Given the description of an element on the screen output the (x, y) to click on. 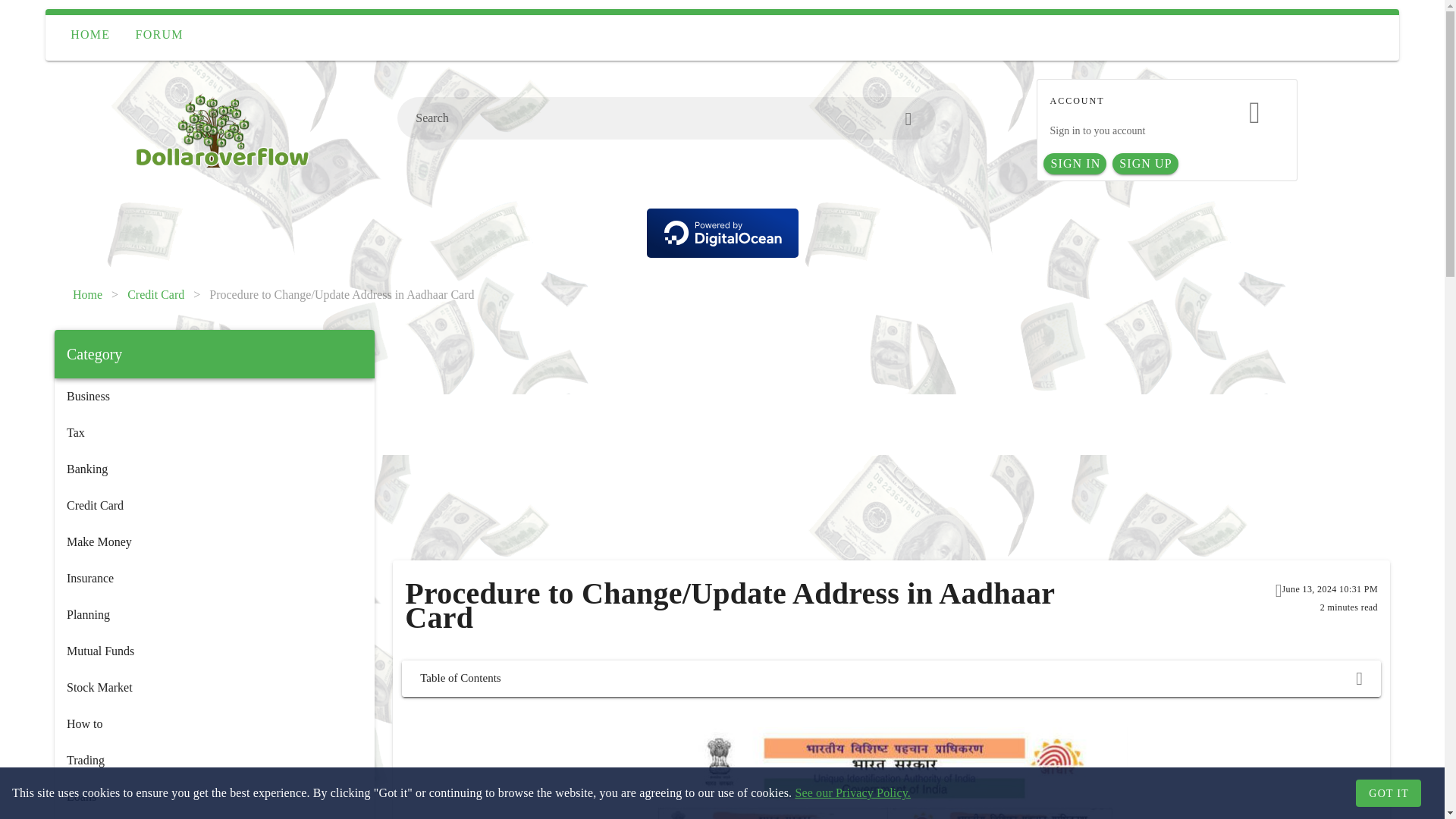
Credit Card (214, 505)
Real Estate (214, 816)
Tax (214, 432)
Mutual Funds (214, 651)
Table of Contents (890, 678)
Make Money (214, 542)
HOME (90, 34)
Home (86, 294)
Business (214, 396)
How to (214, 723)
SIGN UP (1144, 163)
Banking (214, 469)
Stock Market (214, 687)
Credit Card (156, 294)
